Given the description of an element on the screen output the (x, y) to click on. 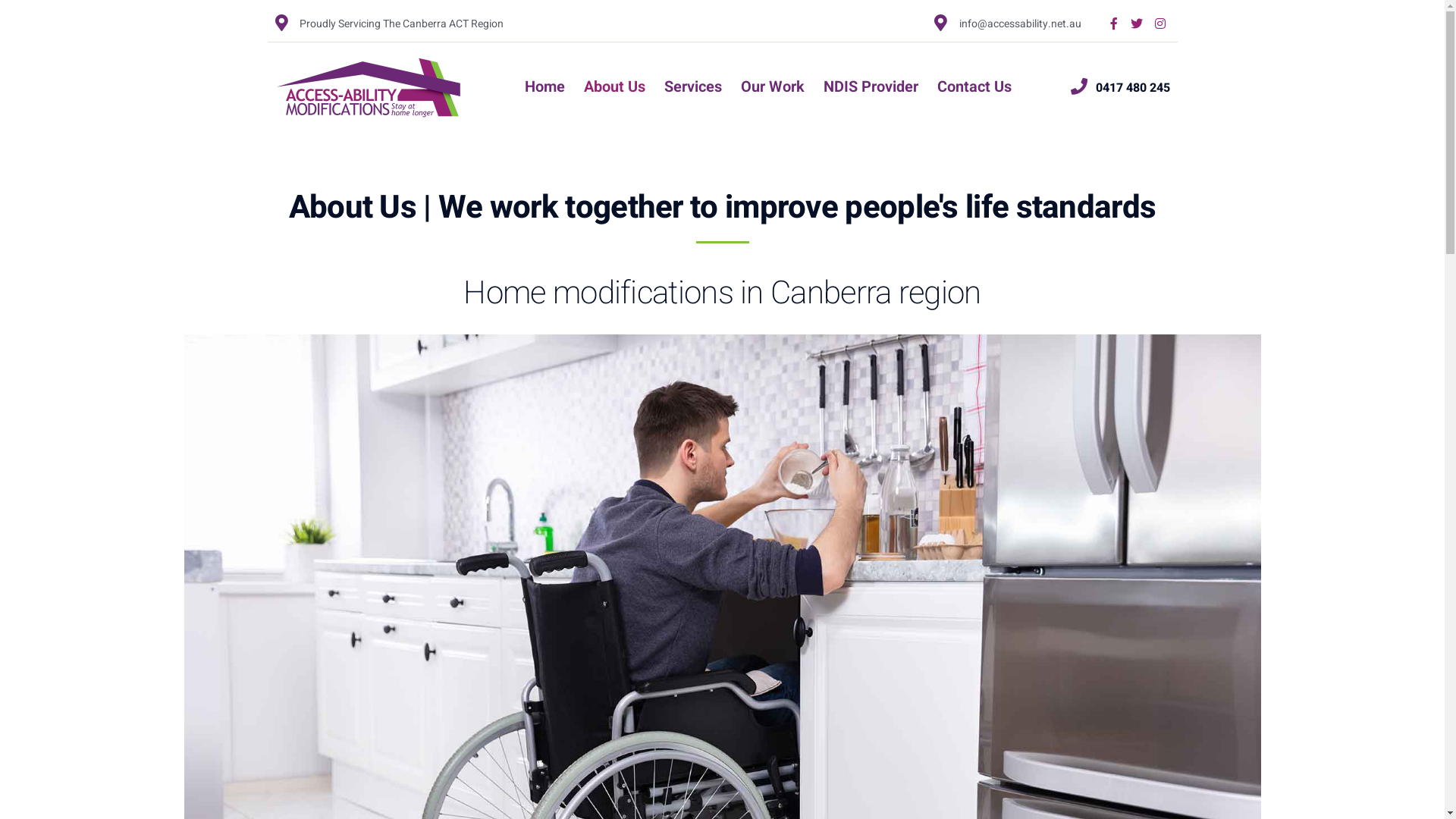
Our Work Element type: text (772, 87)
Services Element type: text (692, 87)
NDIS Provider Element type: text (870, 87)
About Us Element type: text (614, 87)
Contact Us Element type: text (974, 87)
Home Element type: text (544, 87)
info@accessability.net.au Element type: text (1007, 22)
0417 480 245 Element type: text (1120, 87)
